Given the description of an element on the screen output the (x, y) to click on. 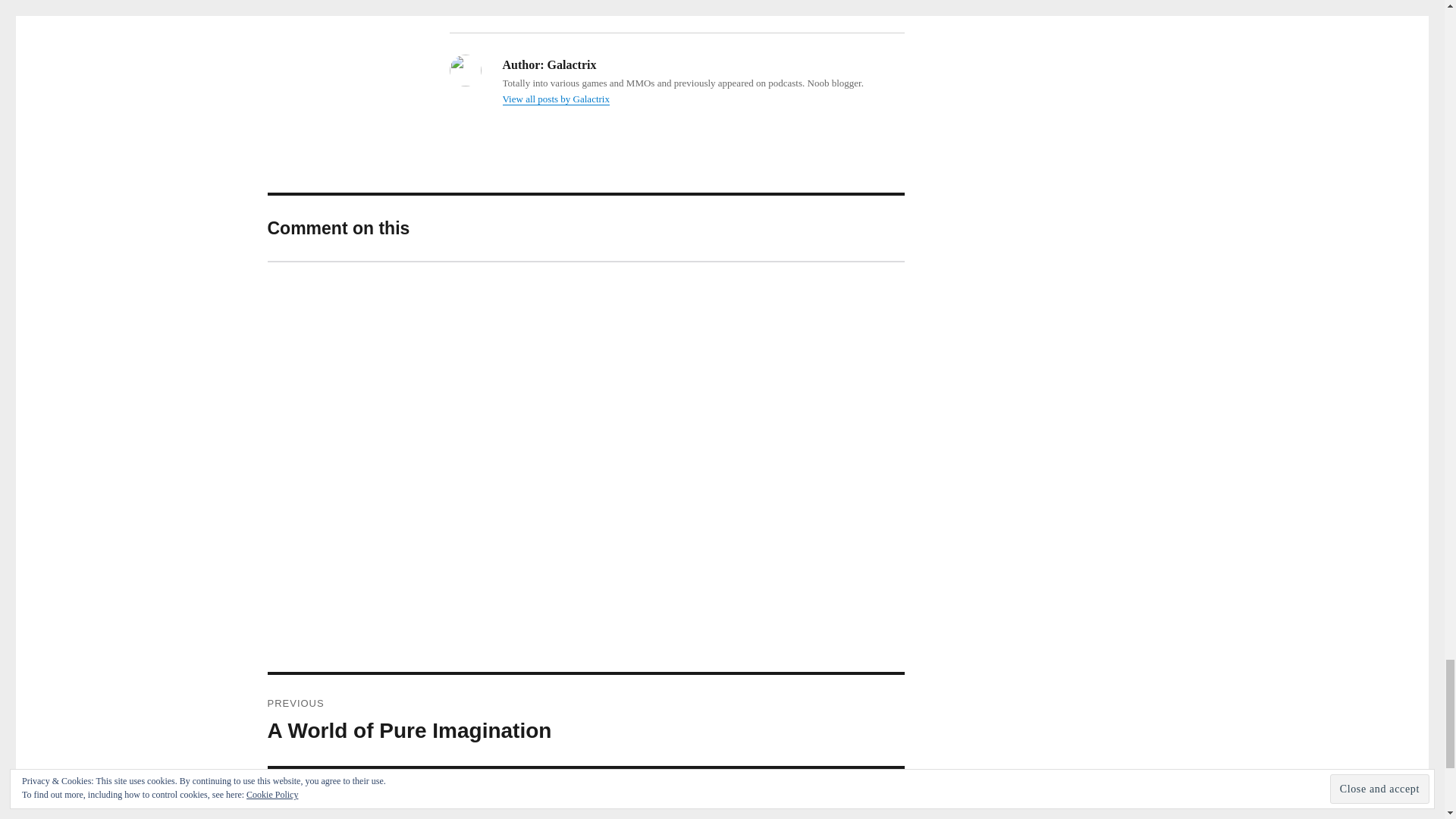
View all posts by Galactrix (555, 98)
